Given the description of an element on the screen output the (x, y) to click on. 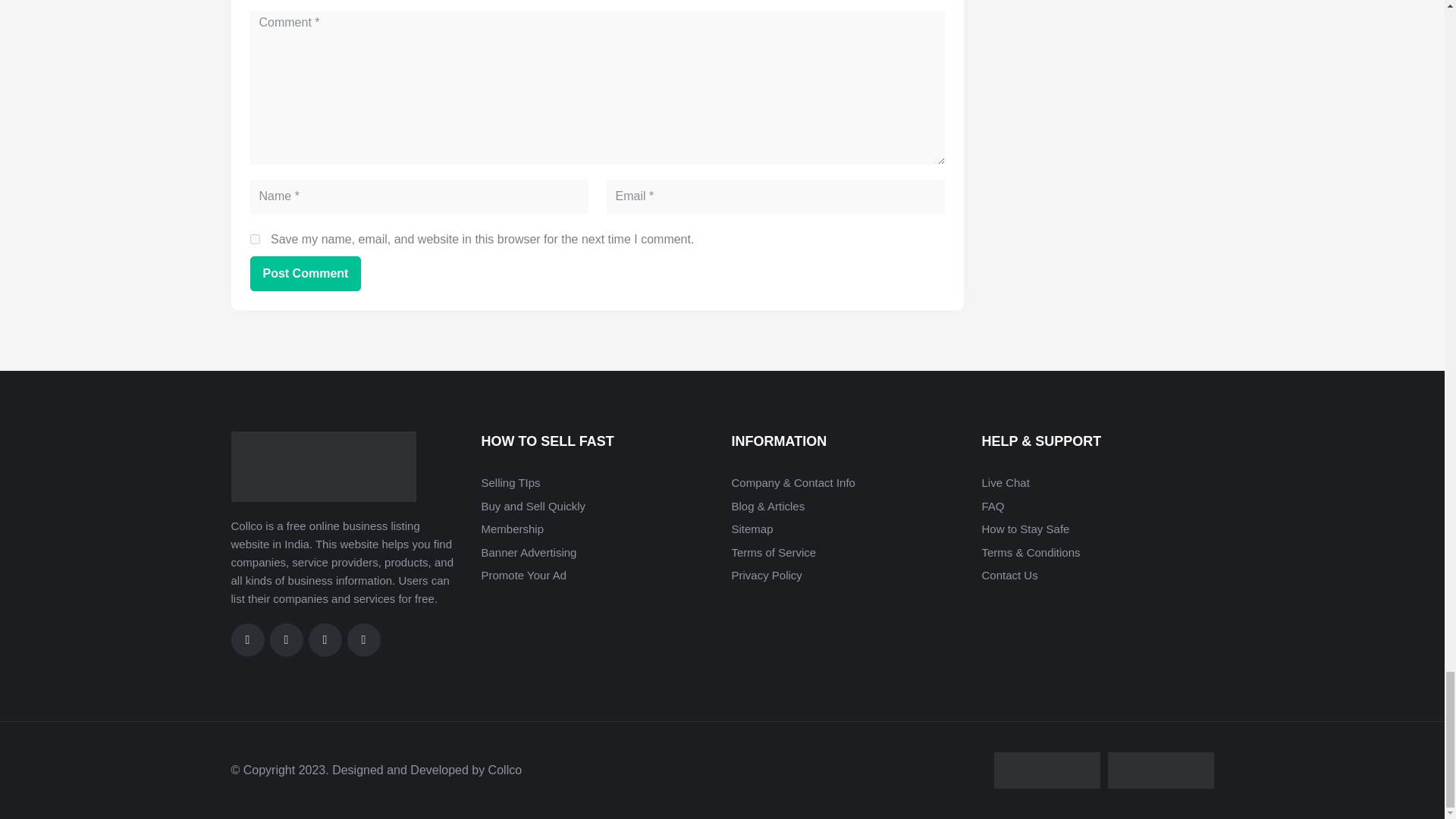
yes (255, 239)
Post Comment (305, 273)
